Given the description of an element on the screen output the (x, y) to click on. 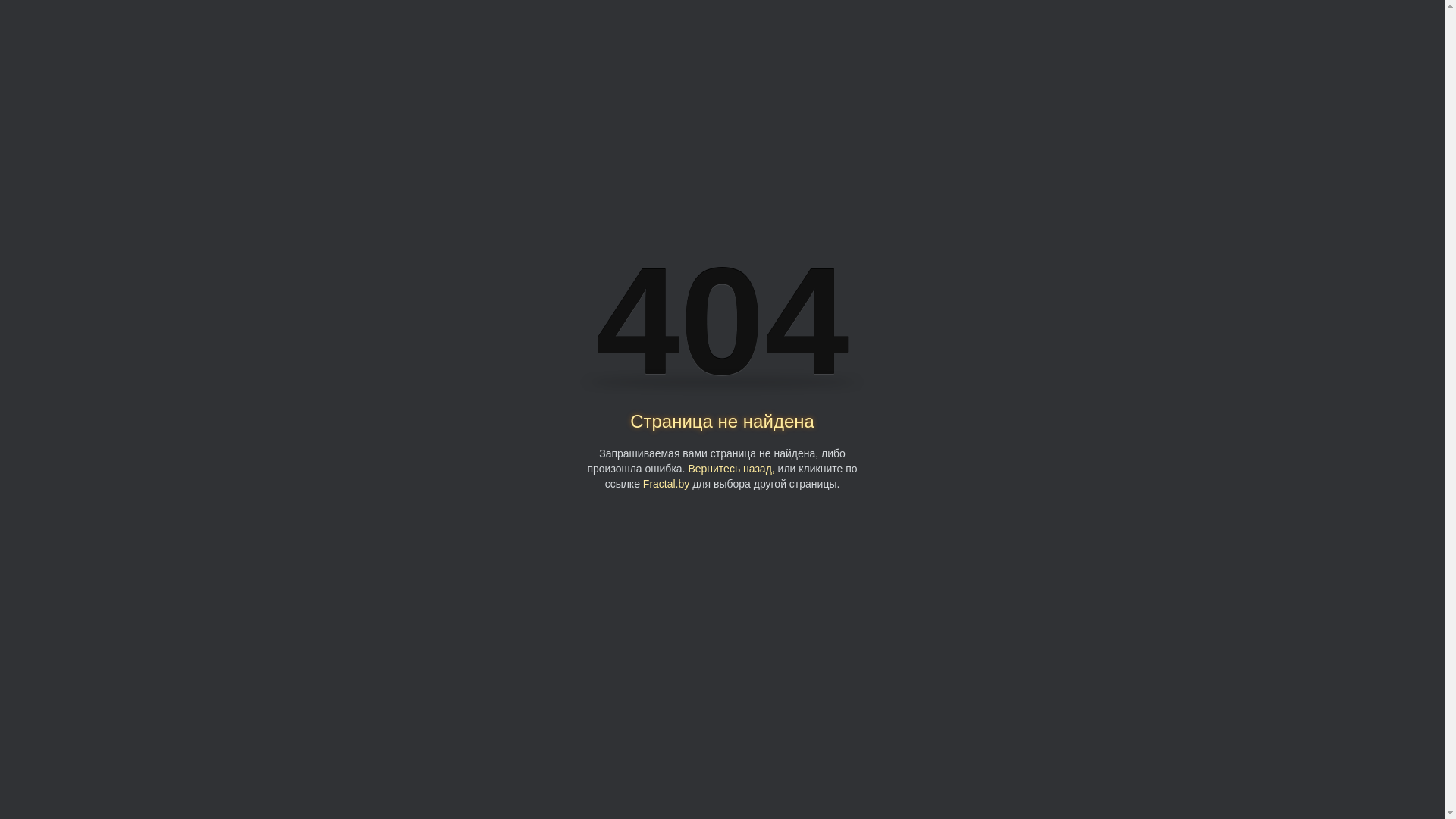
Fractal.by Element type: text (666, 483)
